Given the description of an element on the screen output the (x, y) to click on. 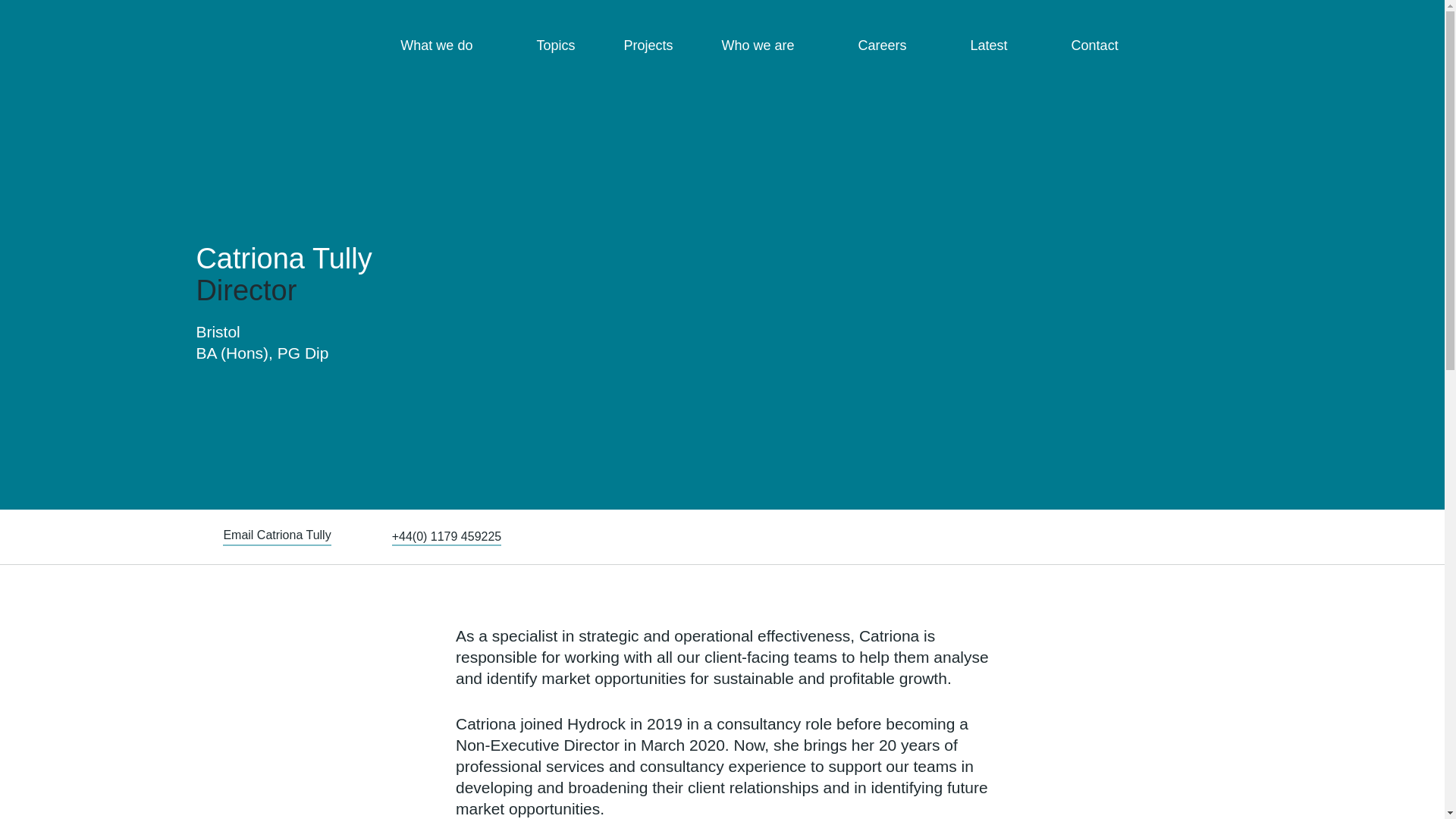
Careers (890, 45)
What we do (443, 45)
Hydrock (167, 38)
Who we are (764, 45)
Careers (890, 45)
Who we are (764, 45)
Hydrock Homepage (167, 38)
What we do (443, 45)
Topics (555, 45)
Projects (647, 45)
